Given the description of an element on the screen output the (x, y) to click on. 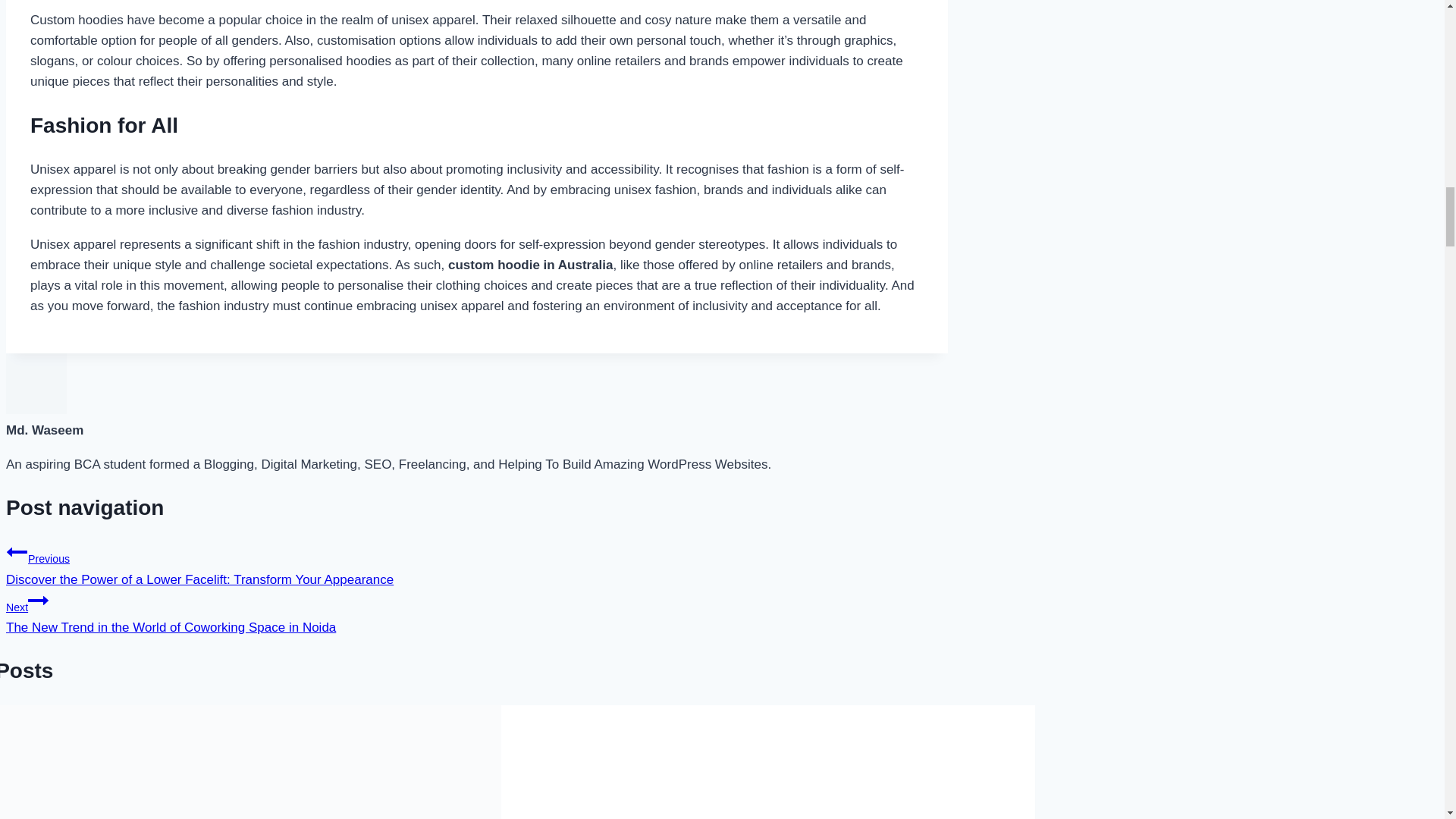
Continue (37, 599)
Previous (16, 551)
